Given the description of an element on the screen output the (x, y) to click on. 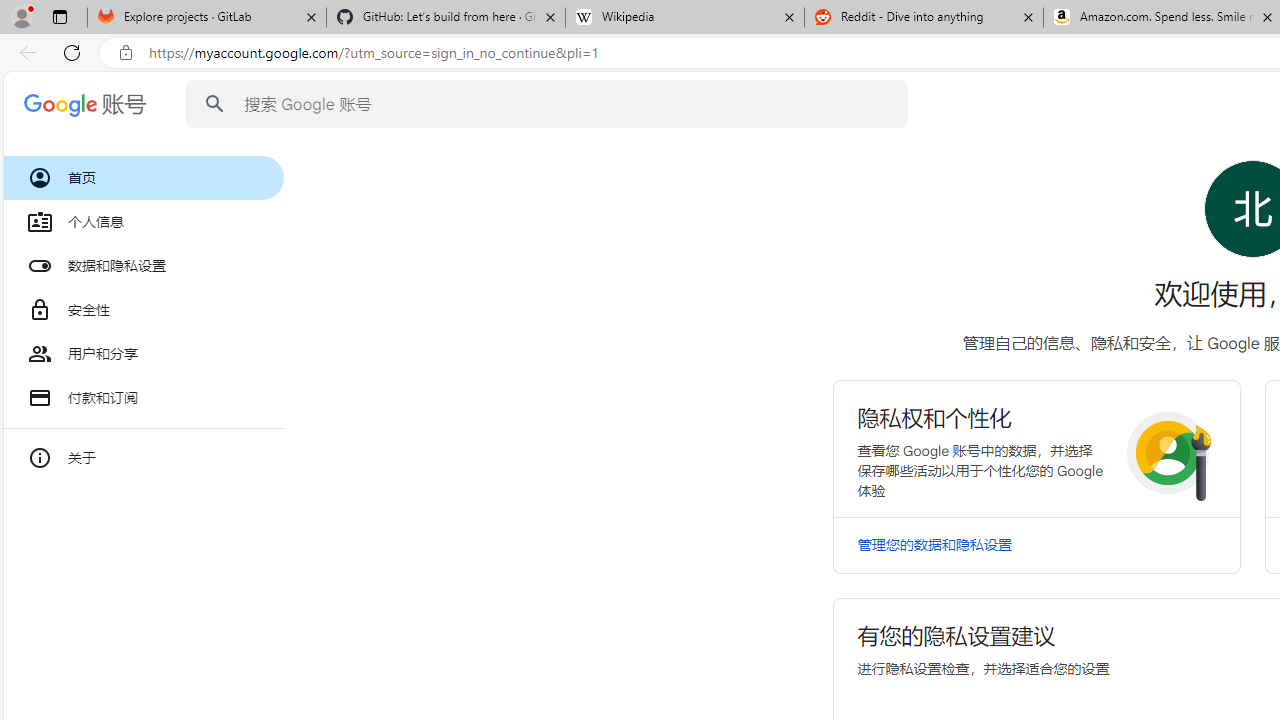
Class: RlFDUe N5YmOc kJXJmd bvW4md I6g62c (1036, 448)
